Given the description of an element on the screen output the (x, y) to click on. 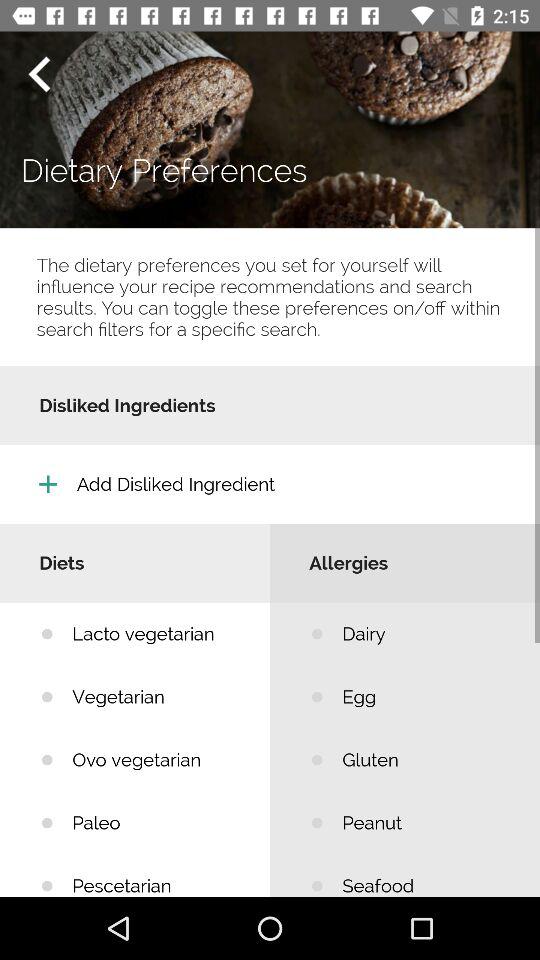
press the icon next to diets icon (426, 633)
